Given the description of an element on the screen output the (x, y) to click on. 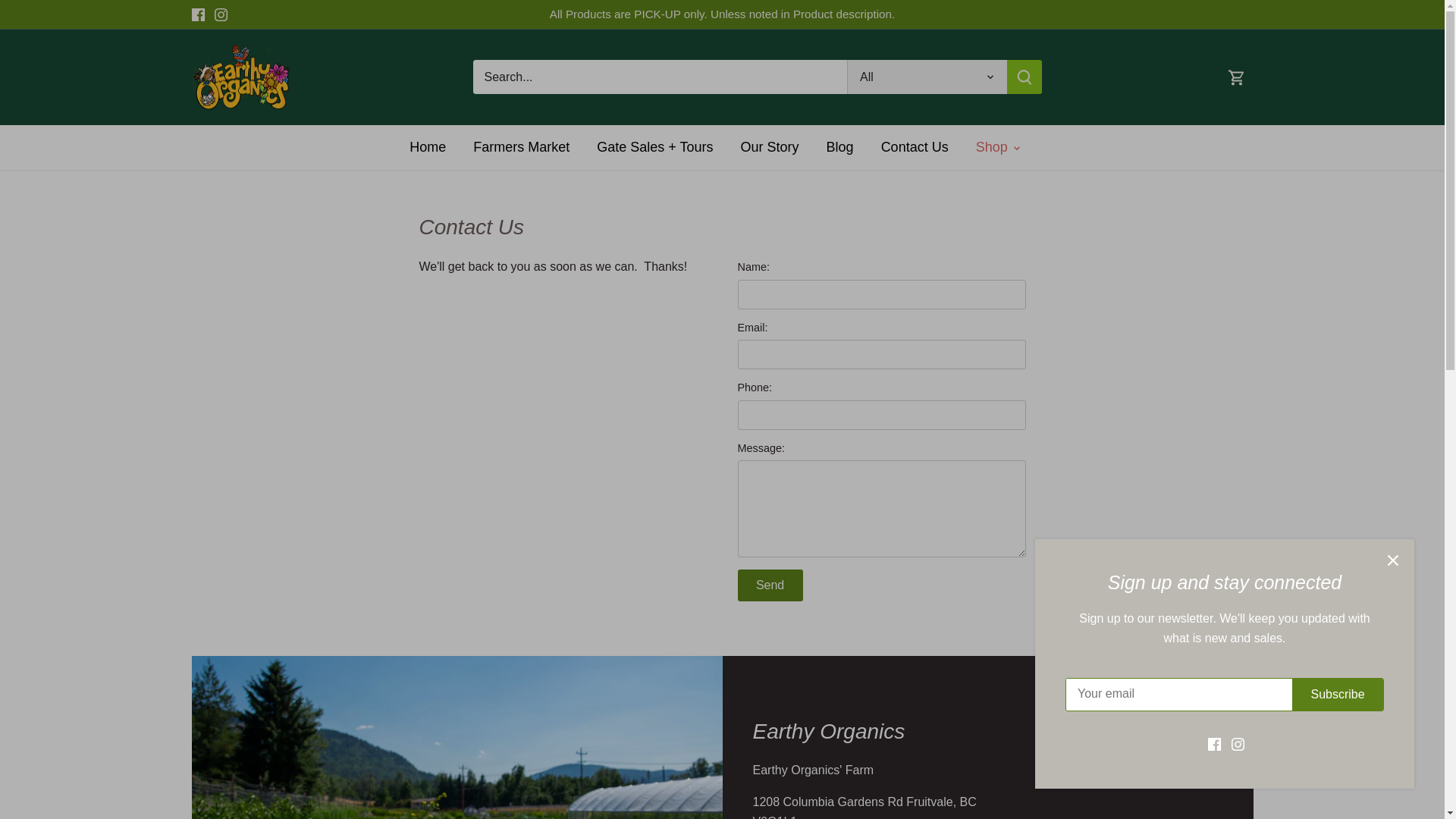
Home (434, 147)
Contact Us (914, 147)
Send (769, 584)
Instagram (220, 13)
Shop (992, 147)
Send (769, 584)
Our Story (769, 147)
Facebook (196, 13)
Facebook (196, 14)
Farmers Market (521, 147)
Blog (839, 147)
Instagram (220, 14)
